Given the description of an element on the screen output the (x, y) to click on. 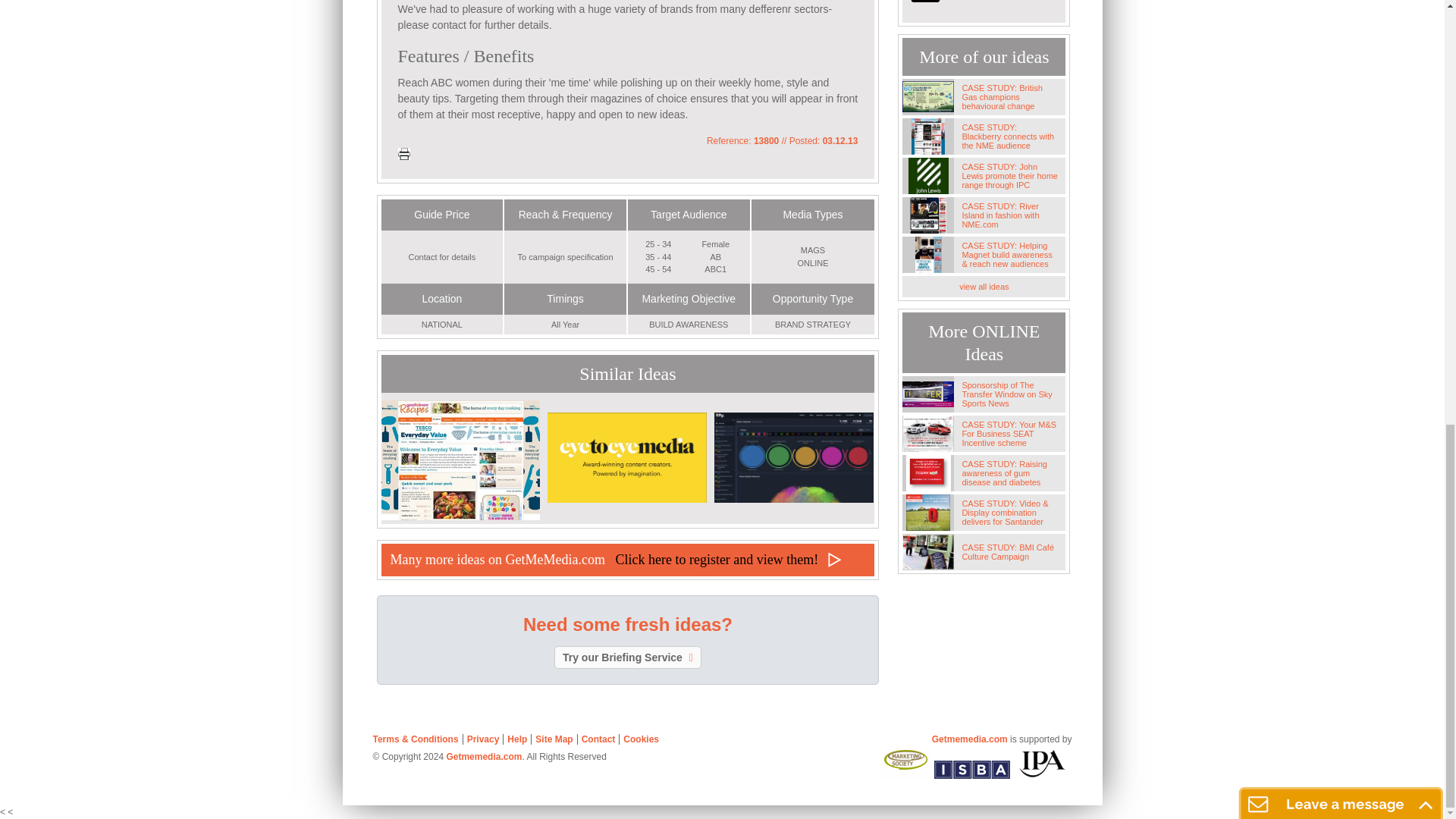
printer friendly version (403, 153)
